Given the description of an element on the screen output the (x, y) to click on. 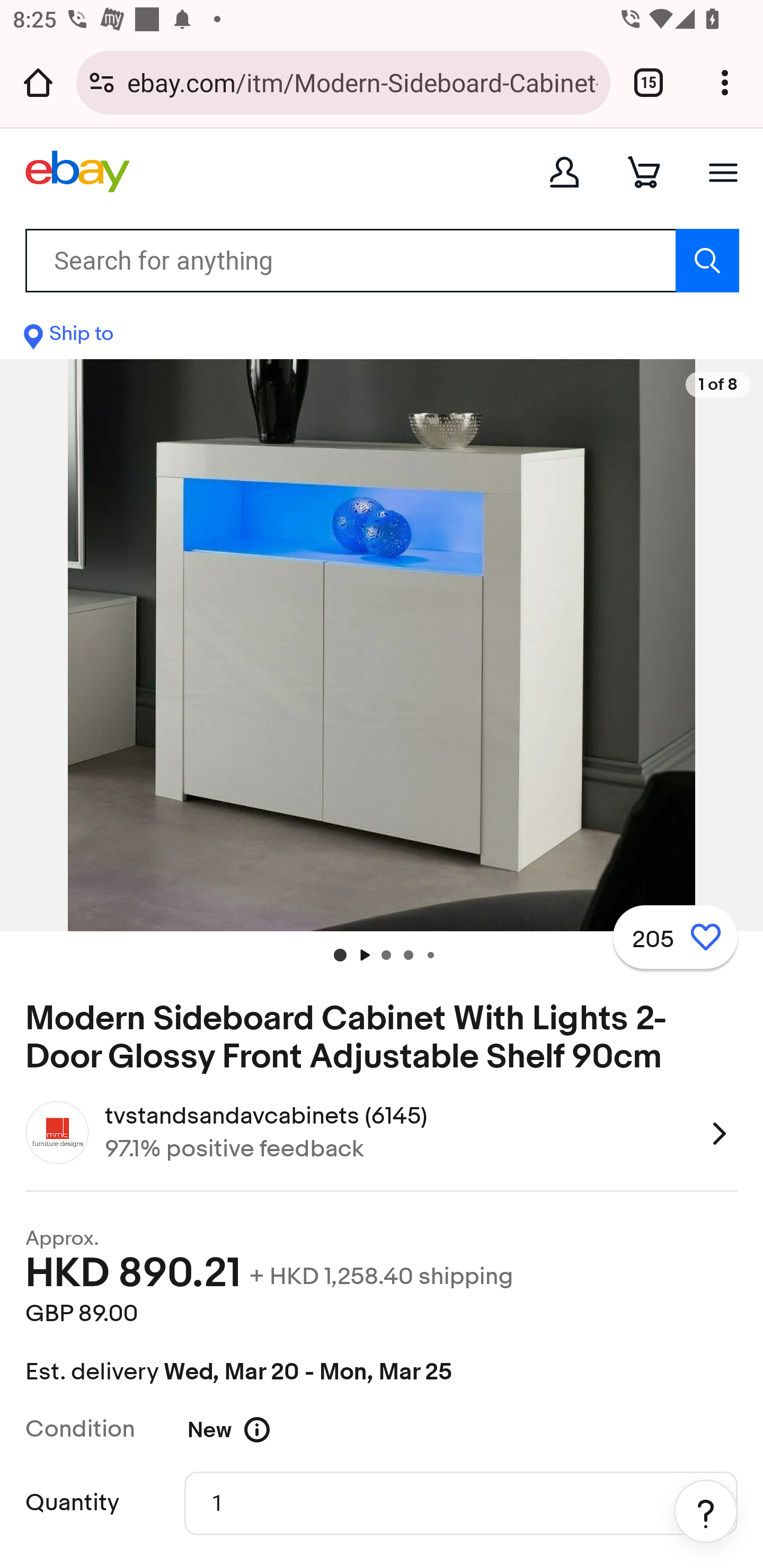
Open the home page (38, 82)
Connection is secure (101, 82)
Switch or close tabs (648, 82)
Customize and control Google Chrome (724, 82)
Open Menu (723, 171)
My eBay (564, 171)
Your shopping cart is empty (643, 171)
eBay Home (77, 171)
Search (707, 259)
Ship to  (68, 338)
Add to watchlist - 205 watchers (674, 936)
Video 1 of 1 (363, 954)
Picture 1 of 7 (340, 954)
Picture 2 of 7 (385, 954)
Picture 3 of 7 (408, 954)
Picture 4 of 7 (430, 954)
More information - About this item condition (269, 1428)
Quantity (460, 1502)
Help (705, 1511)
